Given the description of an element on the screen output the (x, y) to click on. 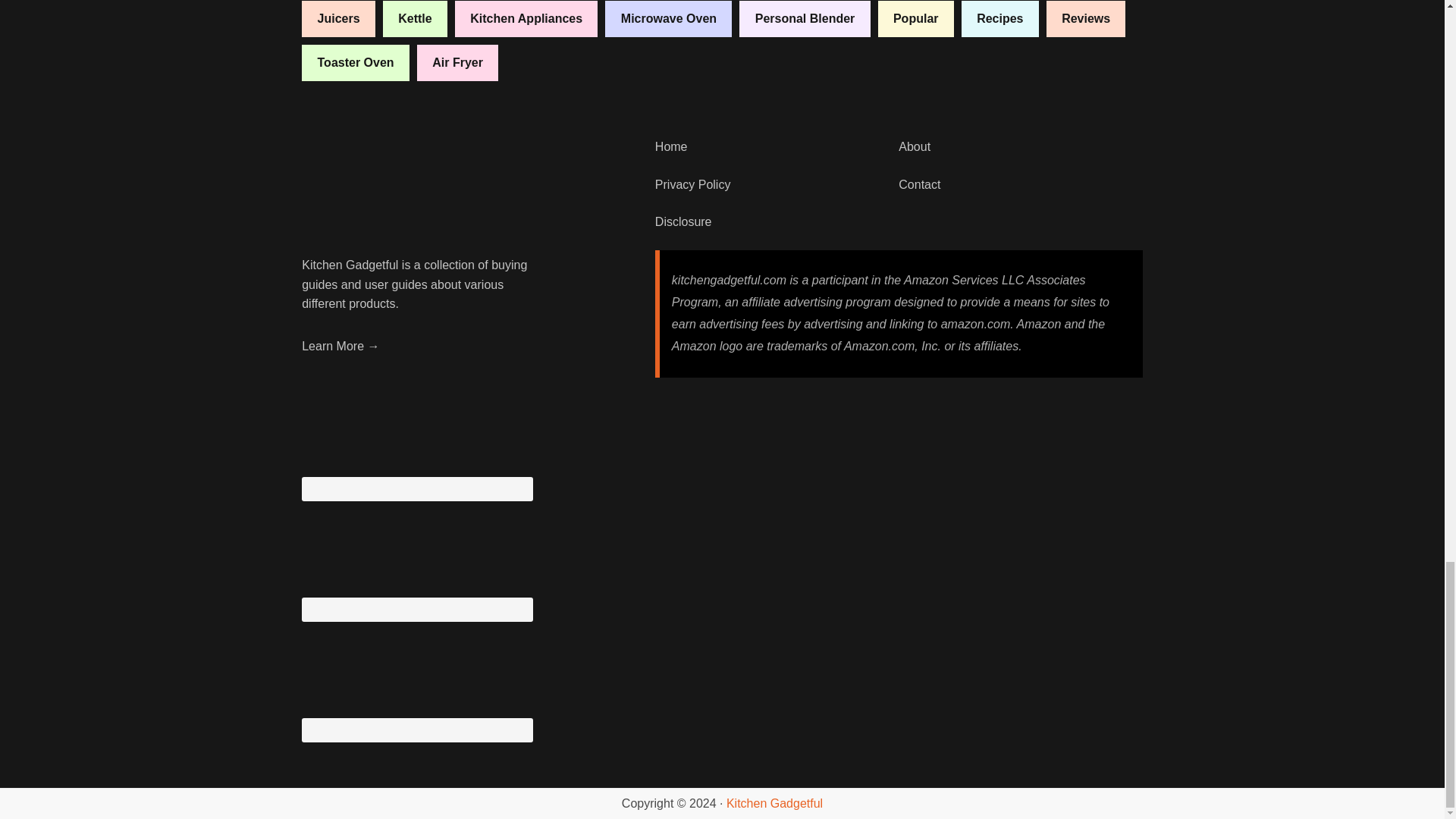
Twitter (415, 678)
Instagram (415, 437)
Pinterest (415, 558)
